Given the description of an element on the screen output the (x, y) to click on. 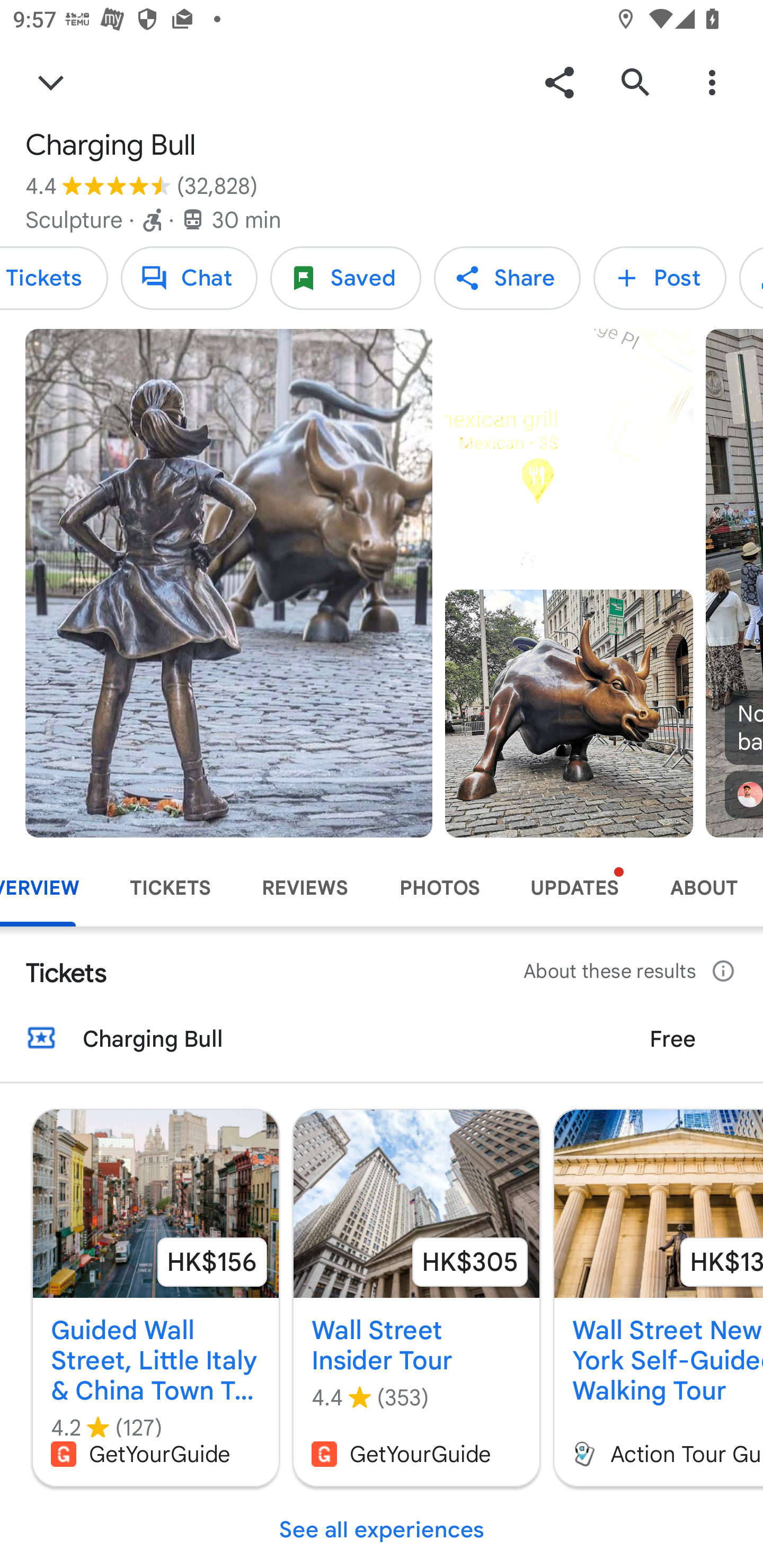
Back to Search (50, 81)
Share (559, 81)
Search (635, 81)
More options for Charging Bull (711, 81)
Tickets (54, 277)
Chat (188, 277)
Share Charging Bull Share Share Charging Bull (507, 277)
Post Post Post (659, 277)
Photo (228, 583)
Video (568, 453)
Photo (568, 713)
TICKETS Tickets (170, 887)
REVIEWS Reviews (304, 887)
PHOTOS Photos (439, 887)
UPDATES Updates New updates in Updates (574, 887)
ABOUT About (703, 887)
About these results (630, 970)
